Given the description of an element on the screen output the (x, y) to click on. 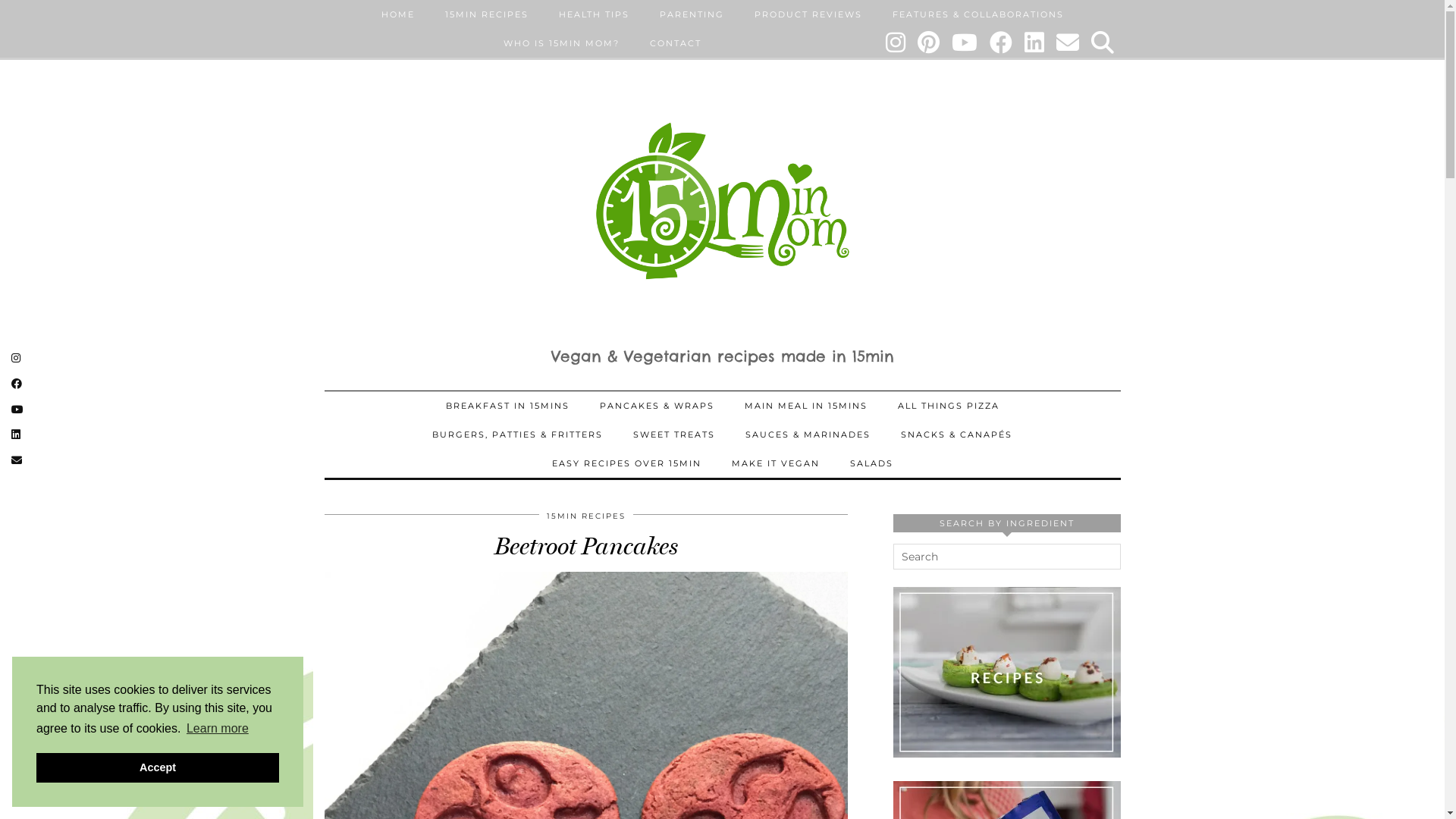
Instagram Element type: hover (895, 42)
FEATURES & COLLABORATIONS Element type: text (977, 14)
SWEET TREATS Element type: text (674, 434)
BURGERS, PATTIES & FRITTERS Element type: text (517, 434)
SAUCES & MARINADES Element type: text (807, 434)
PARENTING Element type: text (691, 14)
CONTACT Element type: text (674, 42)
Email Element type: hover (1067, 42)
Pinterest Element type: hover (929, 42)
Accept Element type: text (157, 767)
Facebook Element type: hover (1000, 42)
15 Min Mom Element type: hover (722, 200)
15MIN RECIPES Element type: text (485, 14)
15MIN RECIPES Element type: text (585, 515)
MAIN MEAL IN 15MINS Element type: text (805, 405)
PRODUCT REVIEWS Element type: text (807, 14)
WHO IS 15MIN MOM? Element type: text (561, 42)
EASY RECIPES OVER 15MIN Element type: text (626, 462)
YouTube Element type: hover (964, 42)
HEALTH TIPS Element type: text (592, 14)
Search Element type: hover (1102, 42)
Learn more Element type: text (217, 728)
MAKE IT VEGAN Element type: text (774, 462)
SALADS Element type: text (870, 462)
HOME Element type: text (397, 14)
PANCAKES & WRAPS Element type: text (655, 405)
ALL THINGS PIZZA Element type: text (948, 405)
BREAKFAST IN 15MINS Element type: text (507, 405)
